Given the description of an element on the screen output the (x, y) to click on. 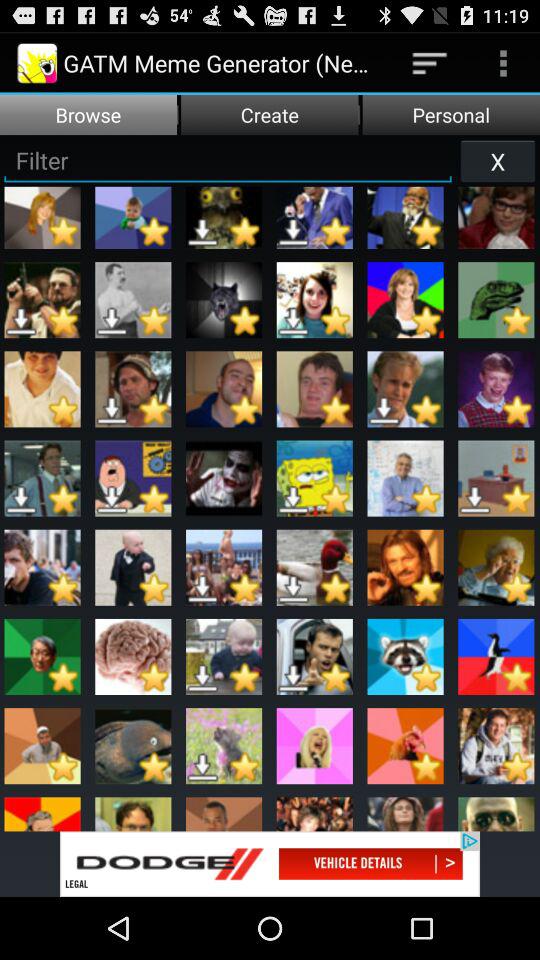
go to the advertisement page (270, 864)
